Given the description of an element on the screen output the (x, y) to click on. 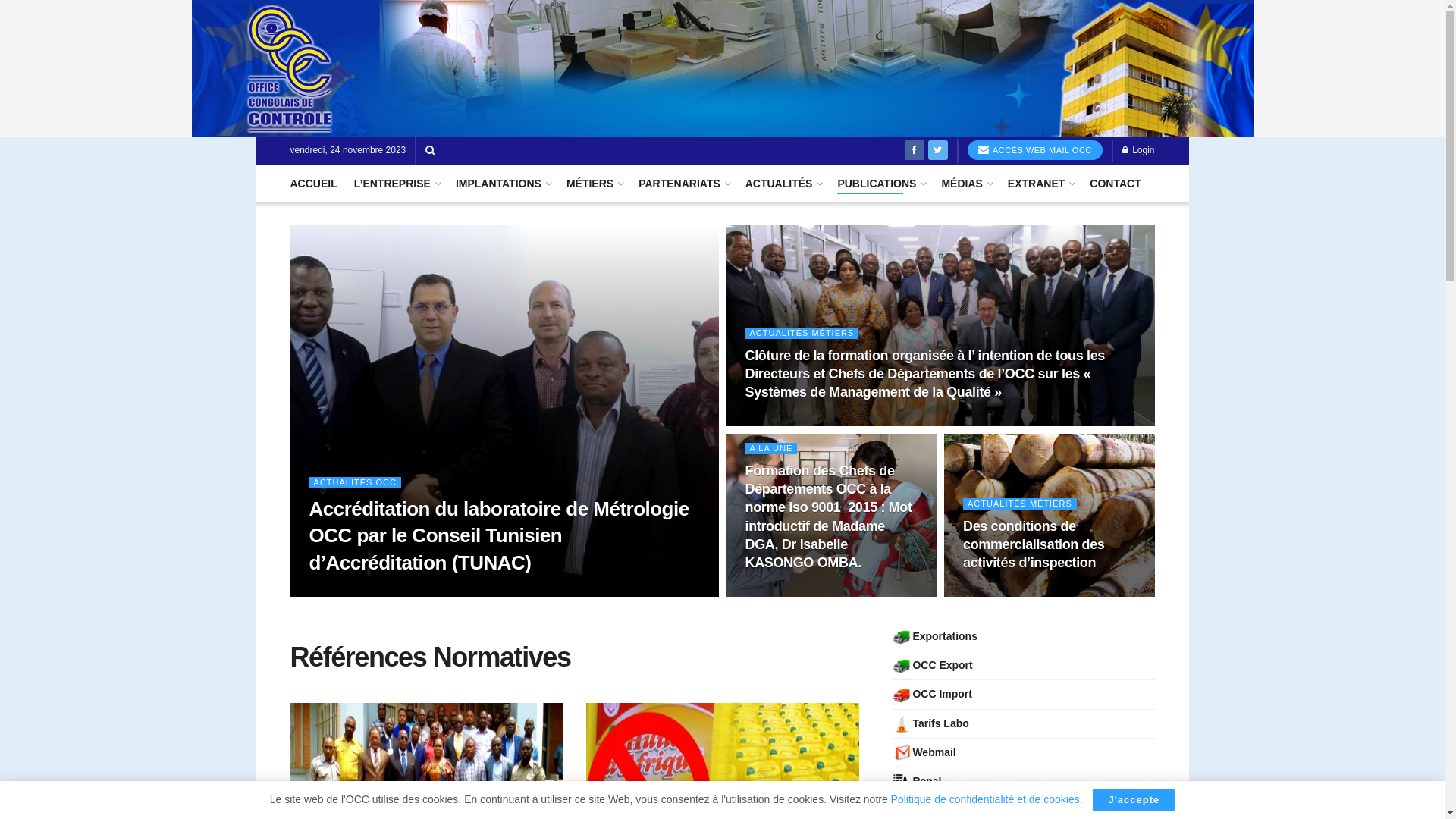
Login Element type: text (1138, 150)
OCC Import Element type: text (932, 693)
IMPLANTATIONS Element type: text (502, 183)
Renal Element type: text (917, 780)
PARTENARIATS Element type: text (683, 183)
Tarifs Labo Element type: text (931, 723)
OCC Export Element type: text (932, 664)
CONTACT Element type: text (1114, 183)
ACCUEIL Element type: text (312, 183)
Exportations Element type: text (935, 636)
EXTRANET Element type: text (1040, 183)
PUBLICATIONS Element type: text (880, 183)
A LA UNE Element type: text (770, 448)
J'accepte Element type: text (1133, 799)
Webmail Element type: text (924, 752)
